Given the description of an element on the screen output the (x, y) to click on. 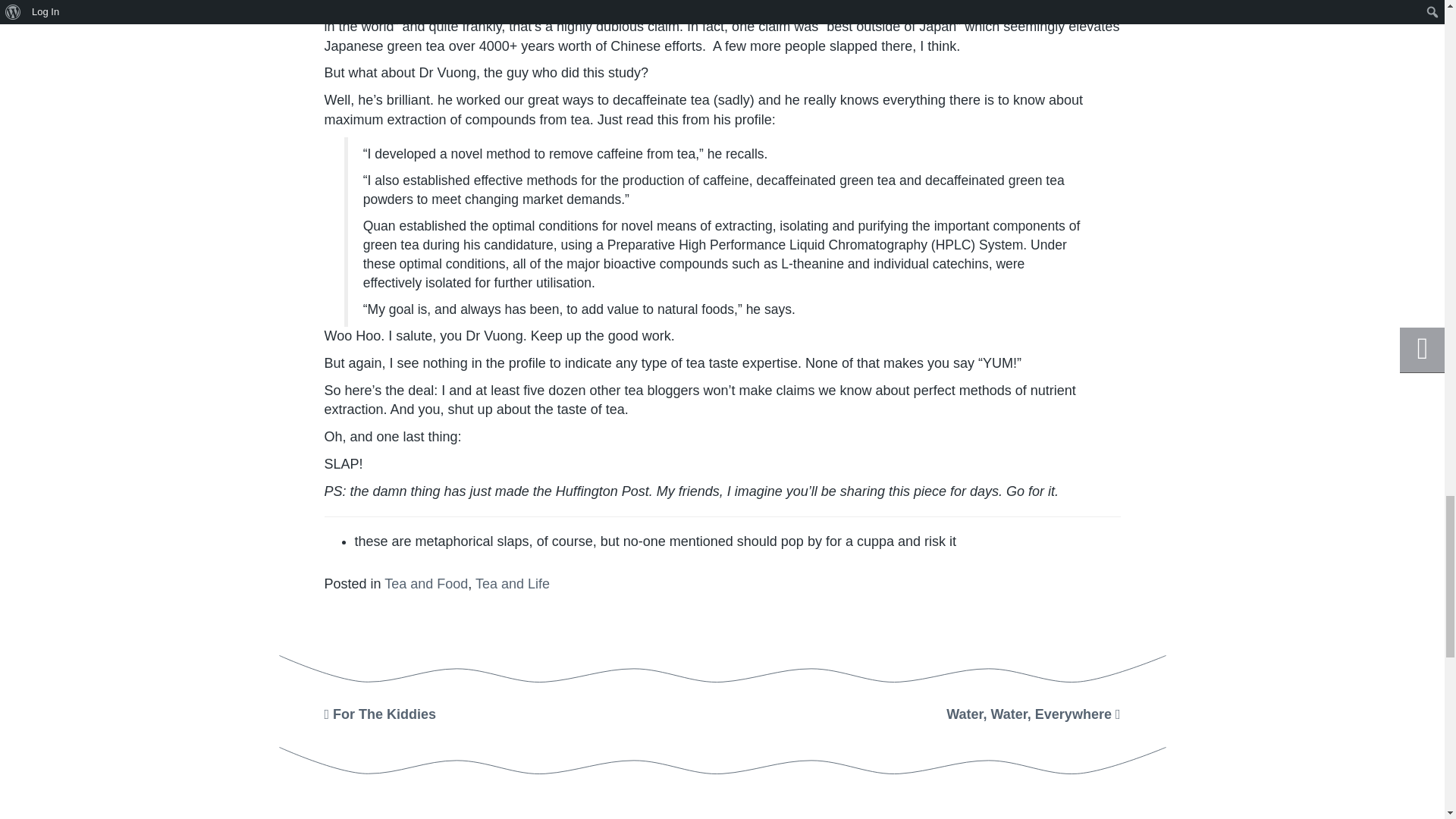
Tea and Life (513, 583)
Tea and Food (425, 583)
Water, Water, Everywhere  (1032, 713)
 For The Kiddies (380, 713)
